Given the description of an element on the screen output the (x, y) to click on. 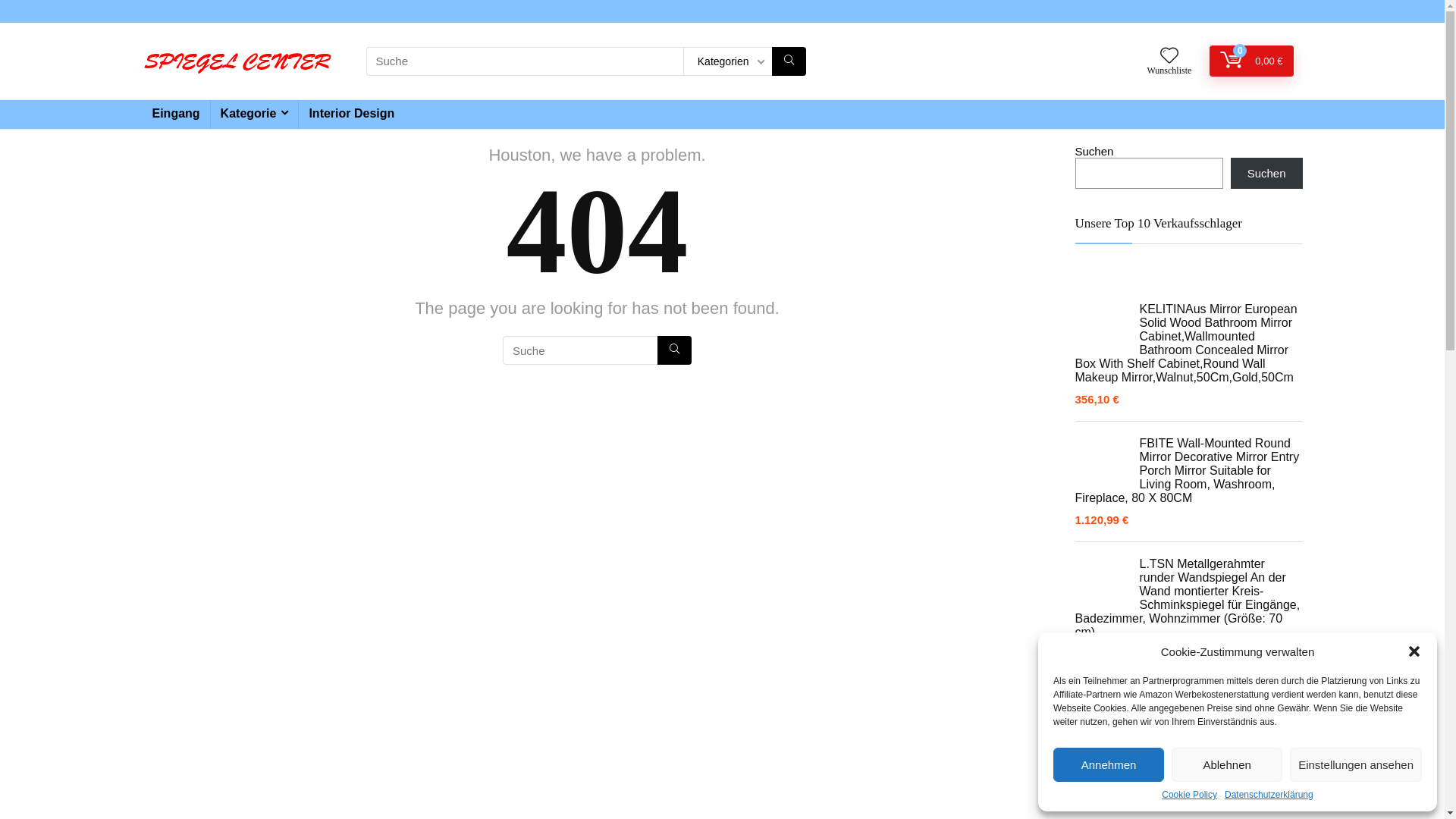
Annehmen Element type: text (1108, 764)
Ablehnen Element type: text (1226, 764)
Kategorie Element type: text (254, 114)
Eingang Element type: text (176, 114)
Cookie Policy Element type: text (1189, 794)
Suchen Element type: text (1266, 172)
Einstellungen ansehen Element type: text (1355, 764)
Interior Design Element type: text (351, 114)
